Given the description of an element on the screen output the (x, y) to click on. 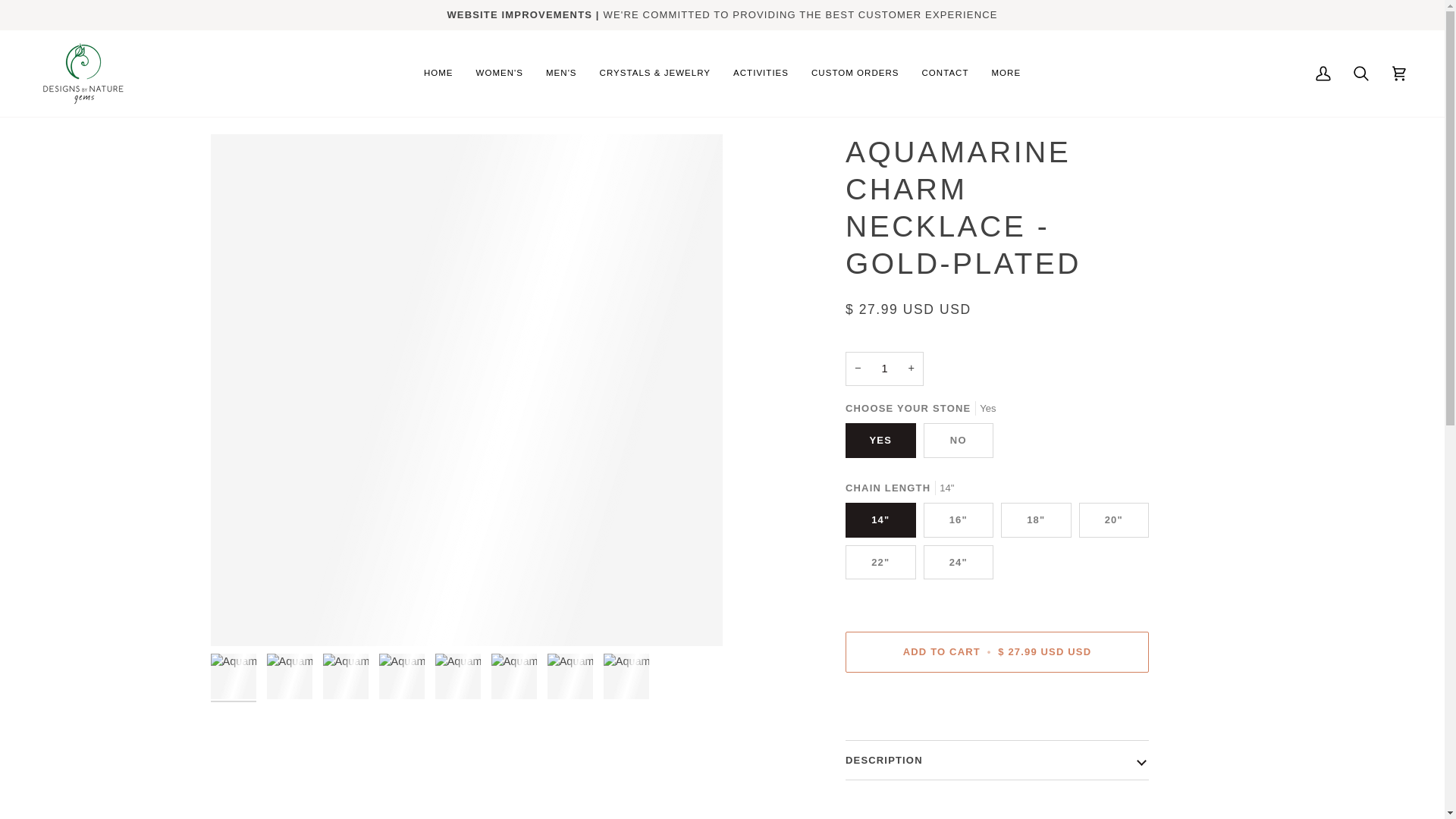
1 (884, 368)
